Given the description of an element on the screen output the (x, y) to click on. 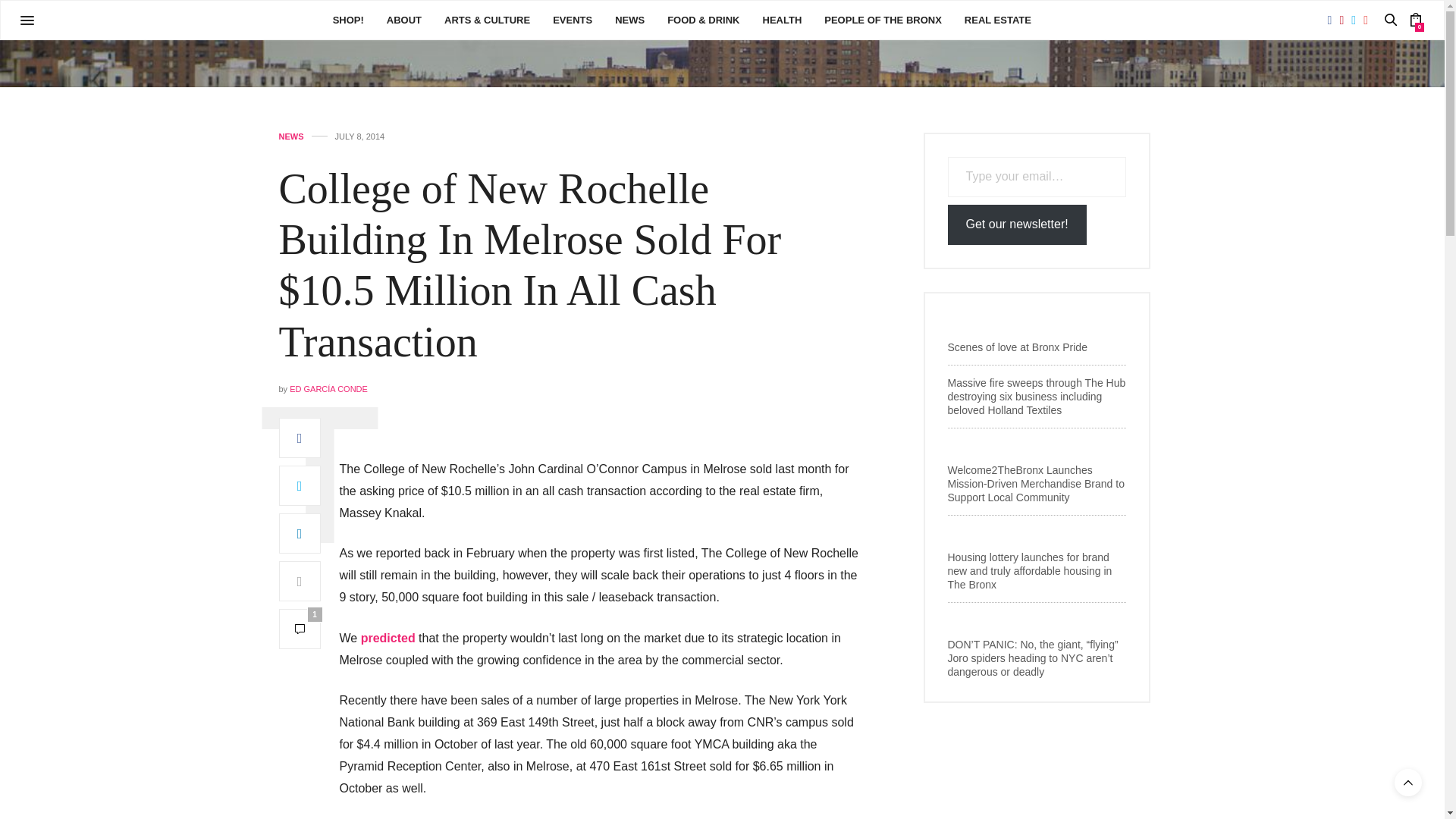
REAL ESTATE (996, 19)
HEALTH (782, 19)
ABOUT (404, 19)
PEOPLE OF THE BRONX (883, 19)
1 (299, 629)
NEWS (291, 136)
EVENTS (572, 19)
predicted (387, 637)
